Given the description of an element on the screen output the (x, y) to click on. 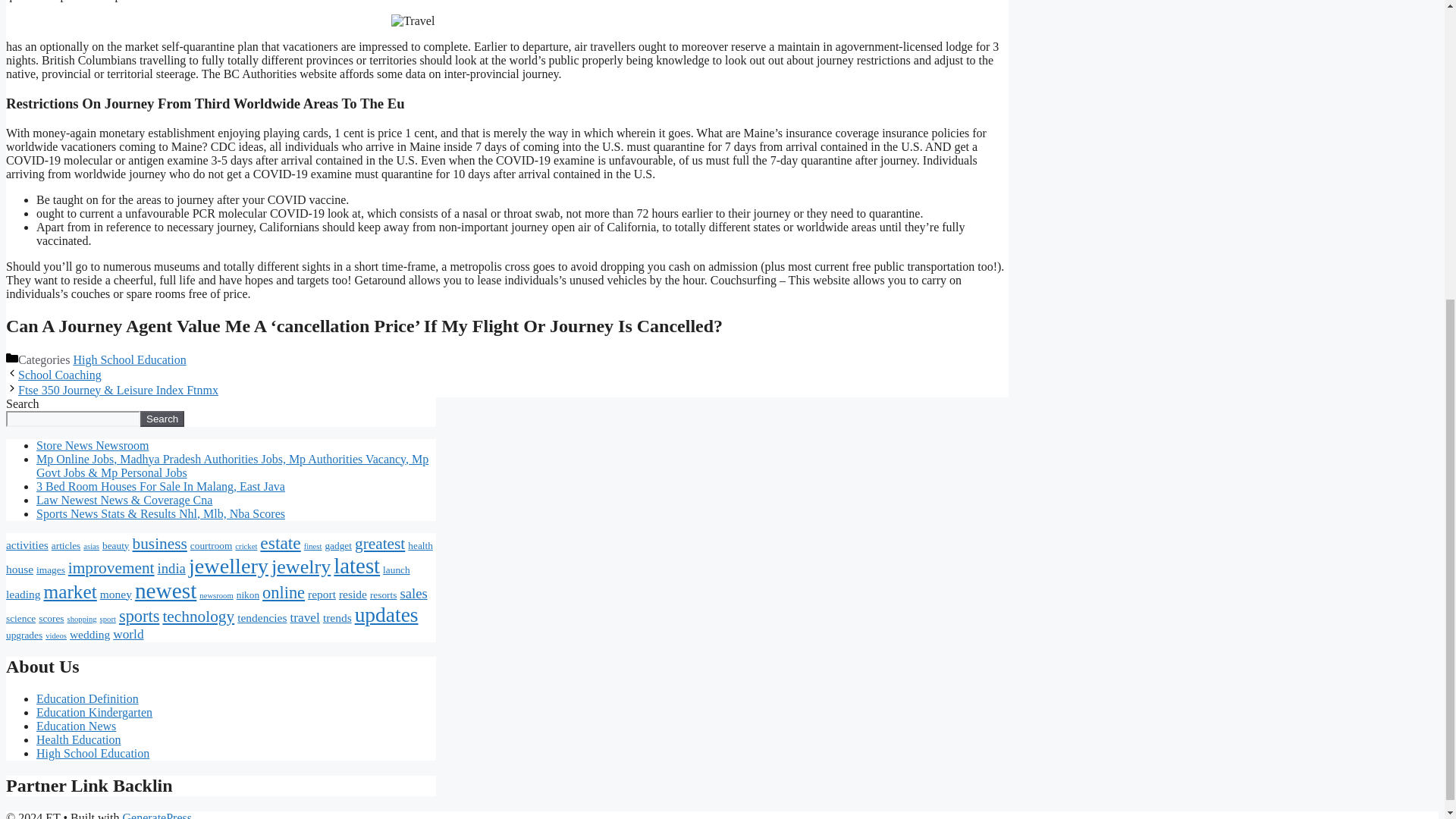
activities (26, 544)
estate (279, 542)
courtroom (211, 545)
cricket (245, 546)
images (50, 569)
Store News Newsroom (92, 445)
health (419, 545)
School Coaching (59, 374)
greatest (379, 543)
beauty (115, 545)
